Given the description of an element on the screen output the (x, y) to click on. 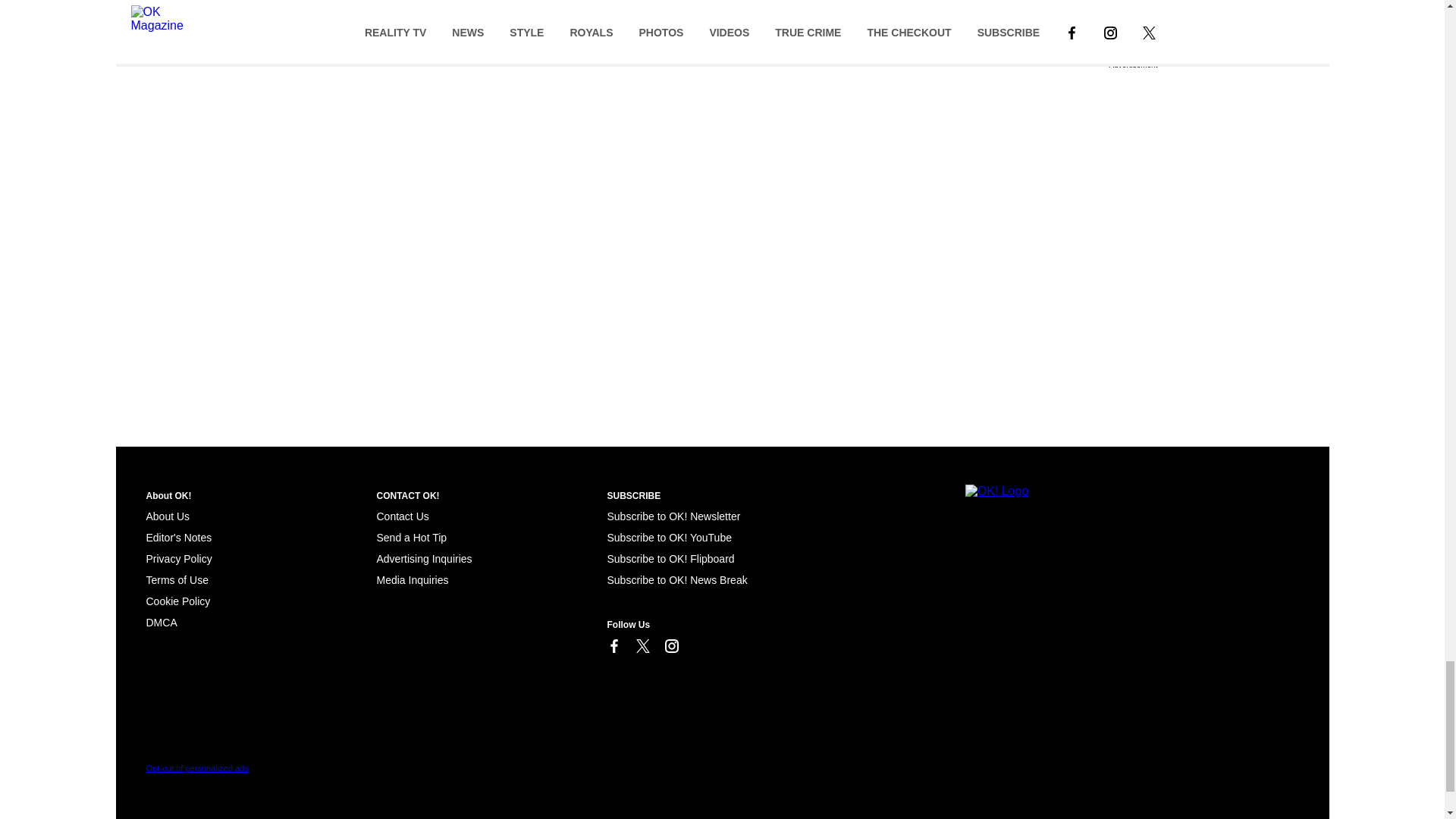
Terms of Use (176, 580)
Advertising Inquiries (423, 558)
Cookie Policy (177, 601)
Editor's Notes (178, 537)
Send a Hot Tip (410, 537)
Media Inquiries (411, 580)
Cookie Policy (160, 622)
Link to X (641, 645)
Link to Facebook (613, 645)
About Us (167, 516)
Privacy Policy (178, 558)
Contact Us (401, 516)
Link to Instagram (670, 645)
